Given the description of an element on the screen output the (x, y) to click on. 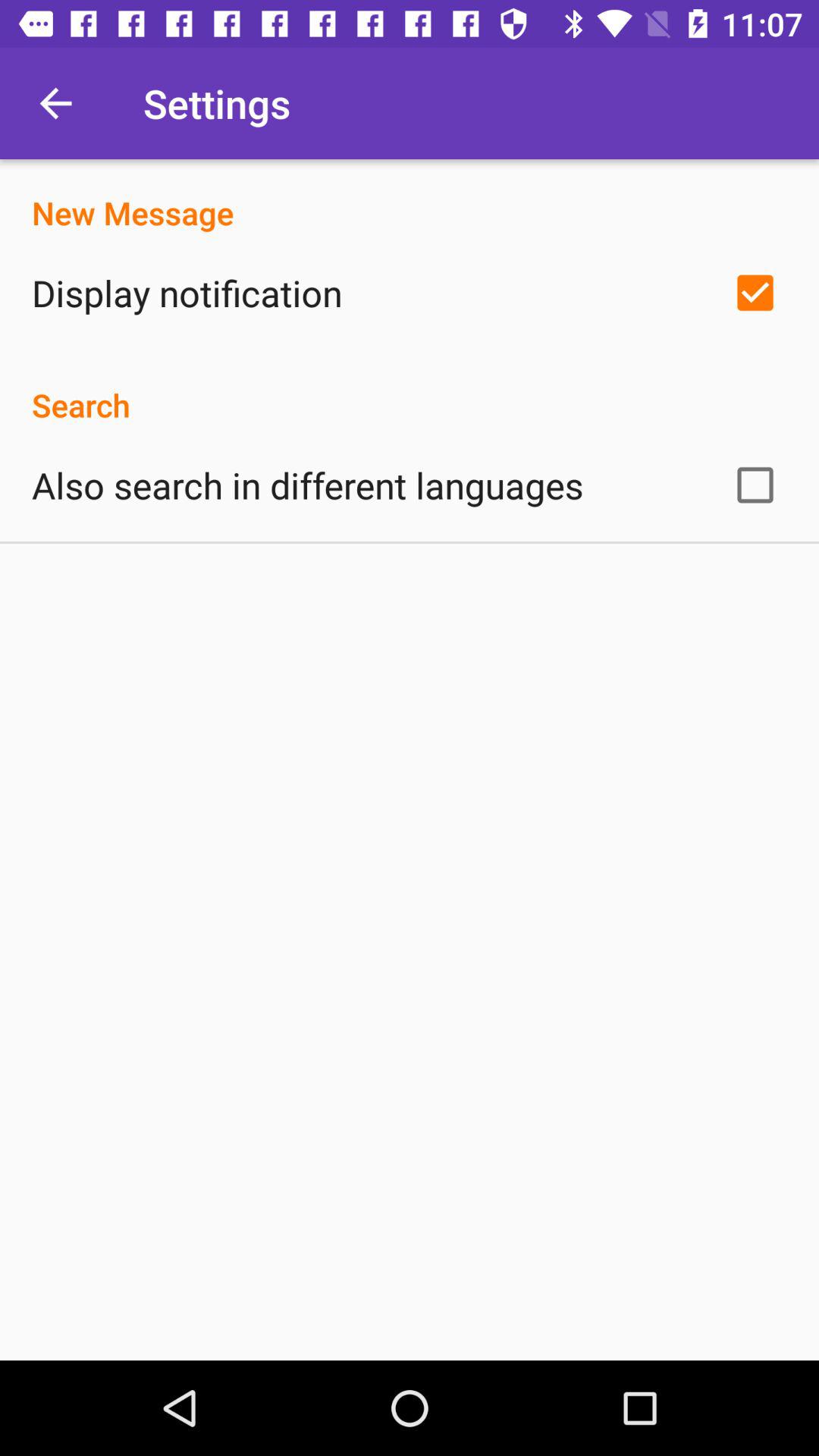
open the item below the search (307, 484)
